Given the description of an element on the screen output the (x, y) to click on. 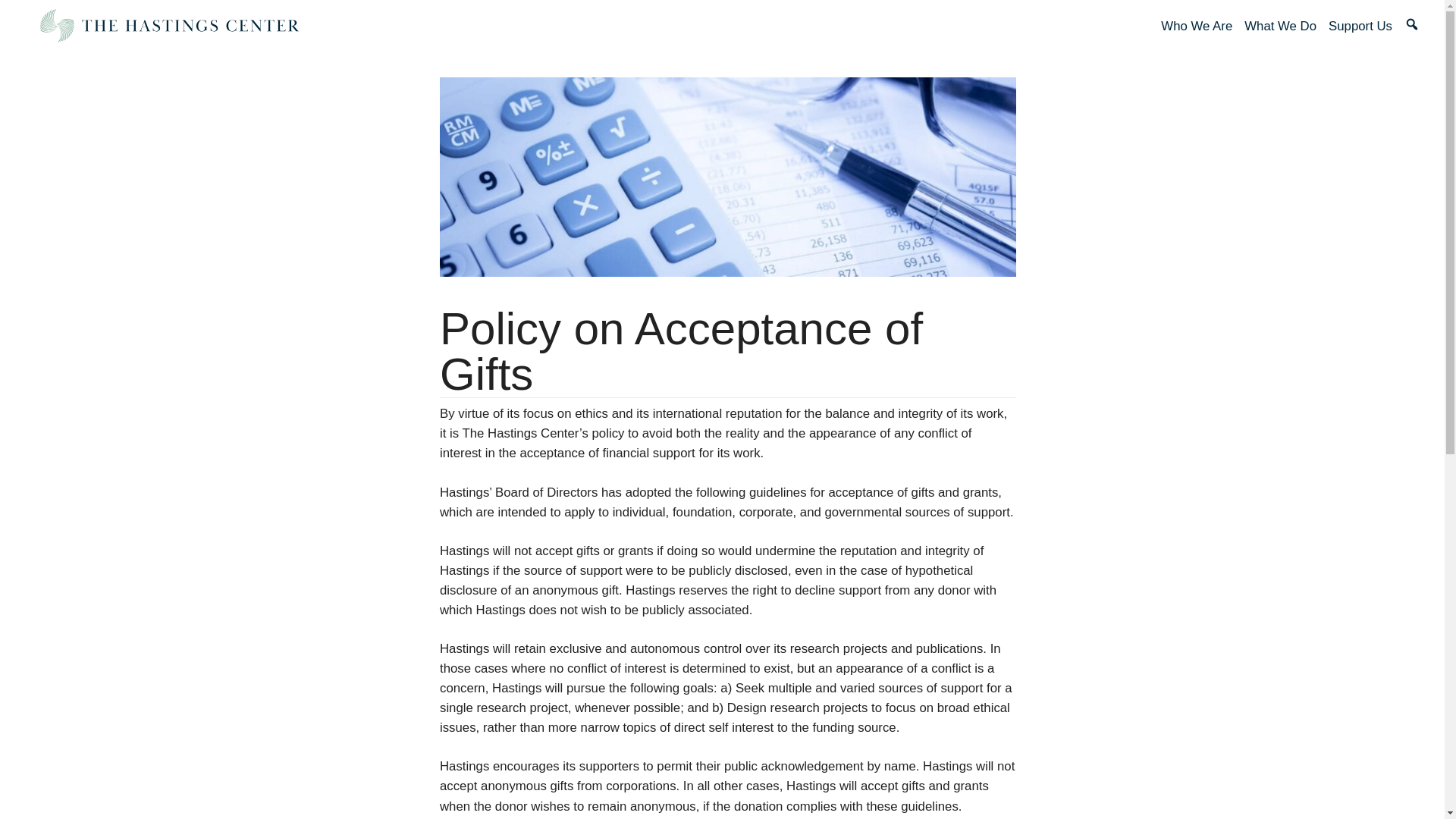
Who We Are (1195, 26)
What We Do (1280, 26)
The Hastings Center (168, 26)
Support Us (1359, 26)
